Given the description of an element on the screen output the (x, y) to click on. 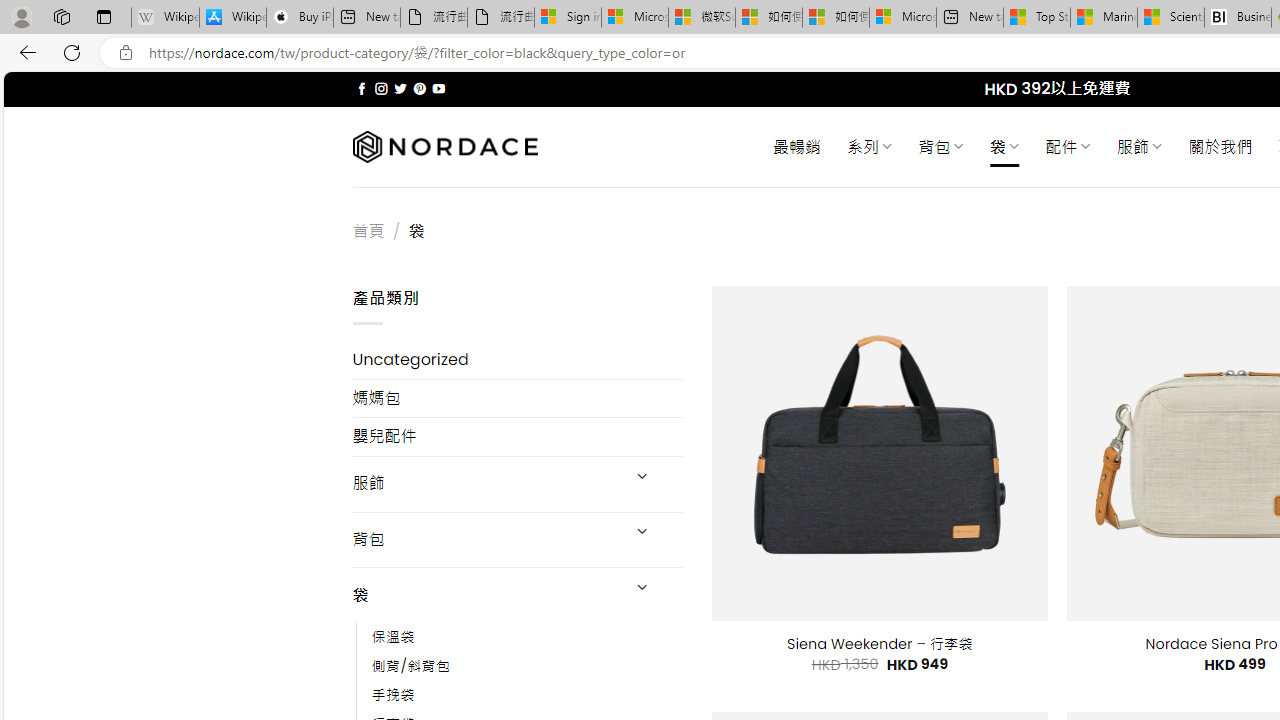
Buy iPad - Apple (299, 17)
Follow on Twitter (400, 88)
Microsoft account | Account Checkup (902, 17)
